Given the description of an element on the screen output the (x, y) to click on. 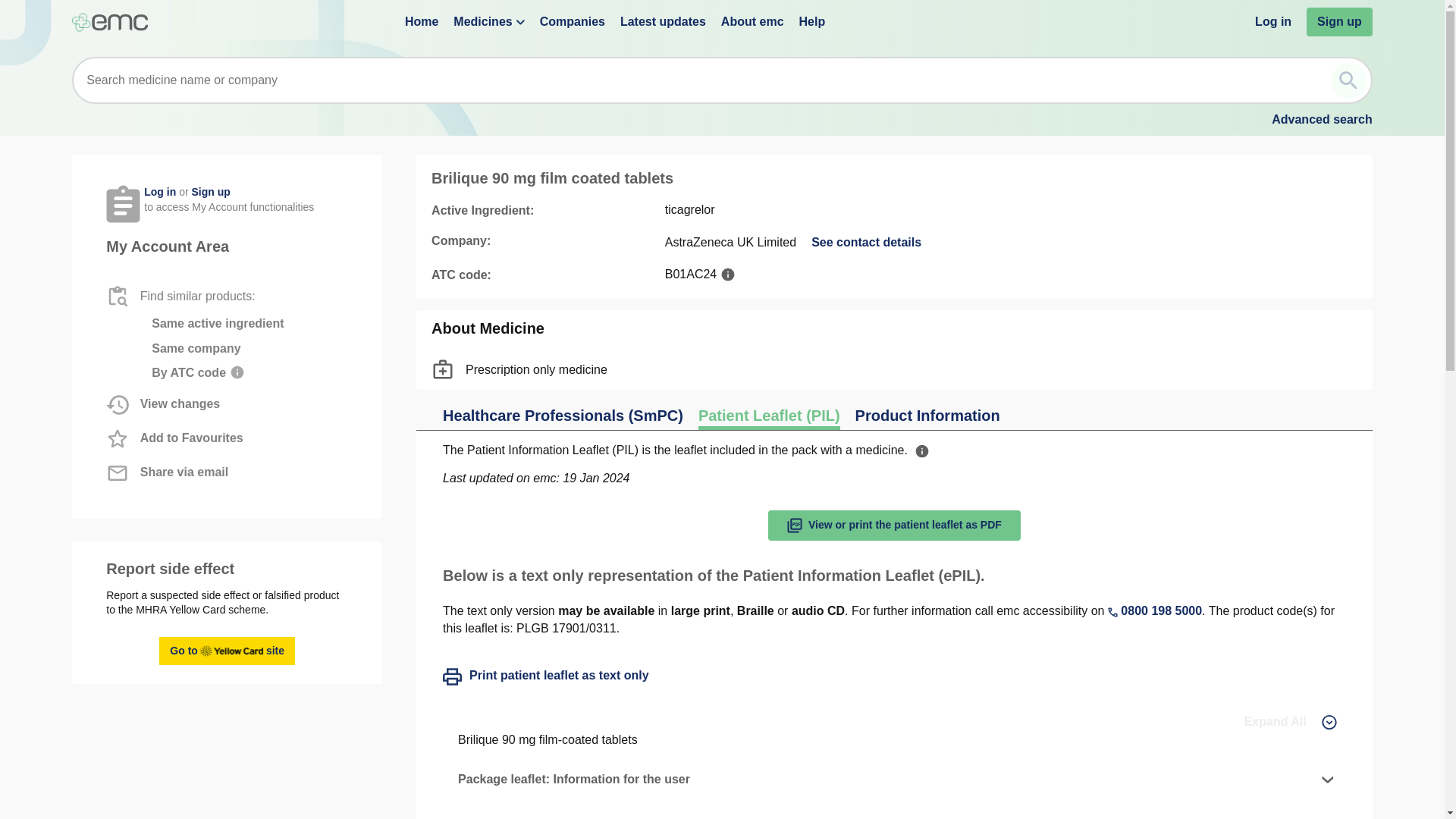
Companies (572, 21)
0800 198 5000 (1155, 610)
Log in (1273, 21)
About emc (752, 21)
Latest updates (663, 21)
emc Search (1347, 80)
See contact details (226, 651)
Advanced search (865, 242)
Expand All (1322, 119)
View or print the patient leaflet as PDF (1290, 722)
Link to AstraZeneca UK Limited details (894, 525)
Sign up (865, 242)
Product Information (210, 191)
Home (928, 416)
